Given the description of an element on the screen output the (x, y) to click on. 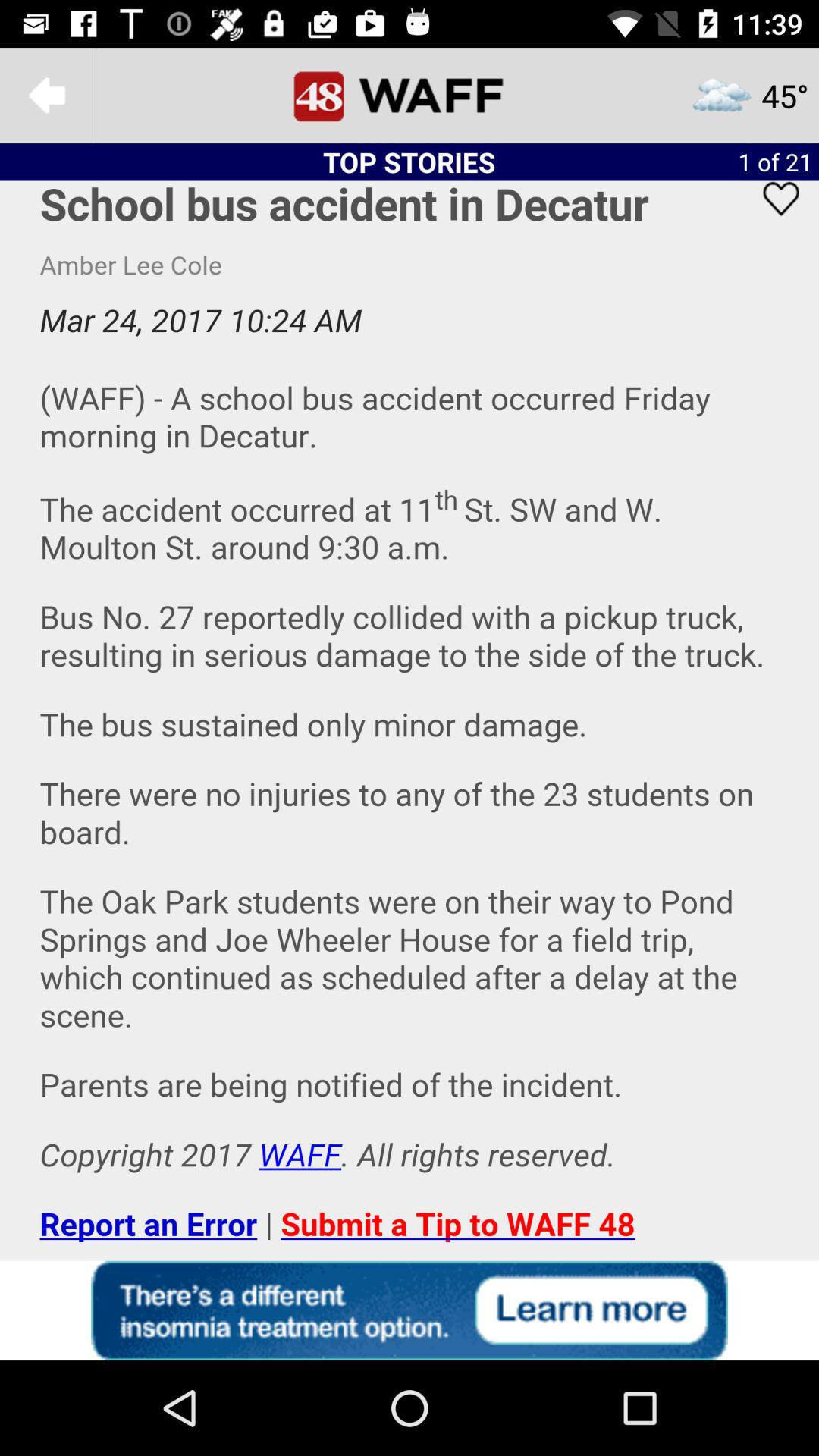
mark as favorite (771, 218)
